Given the description of an element on the screen output the (x, y) to click on. 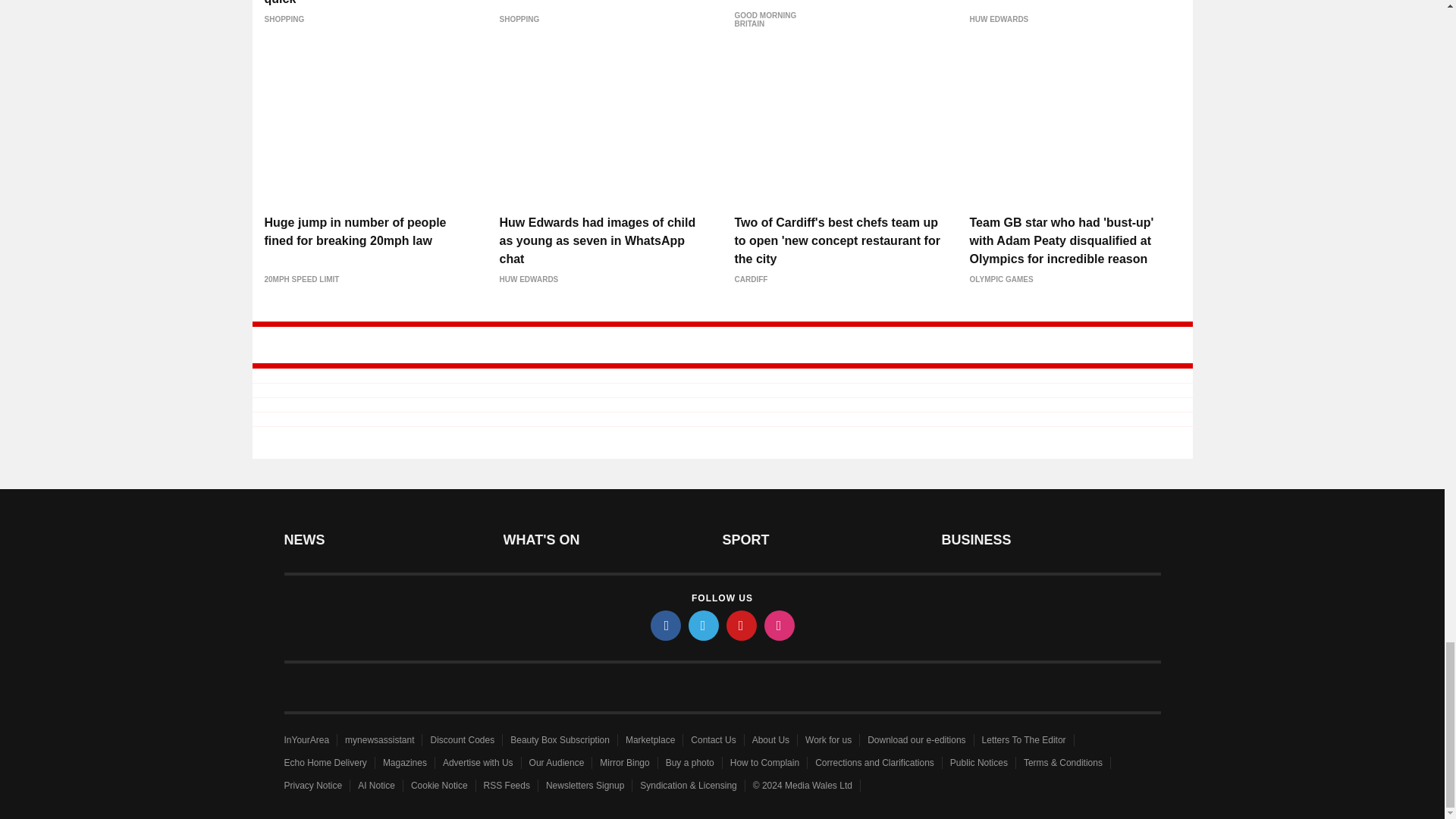
instagram (779, 625)
facebook (665, 625)
pinterest (741, 625)
twitter (703, 625)
